Given the description of an element on the screen output the (x, y) to click on. 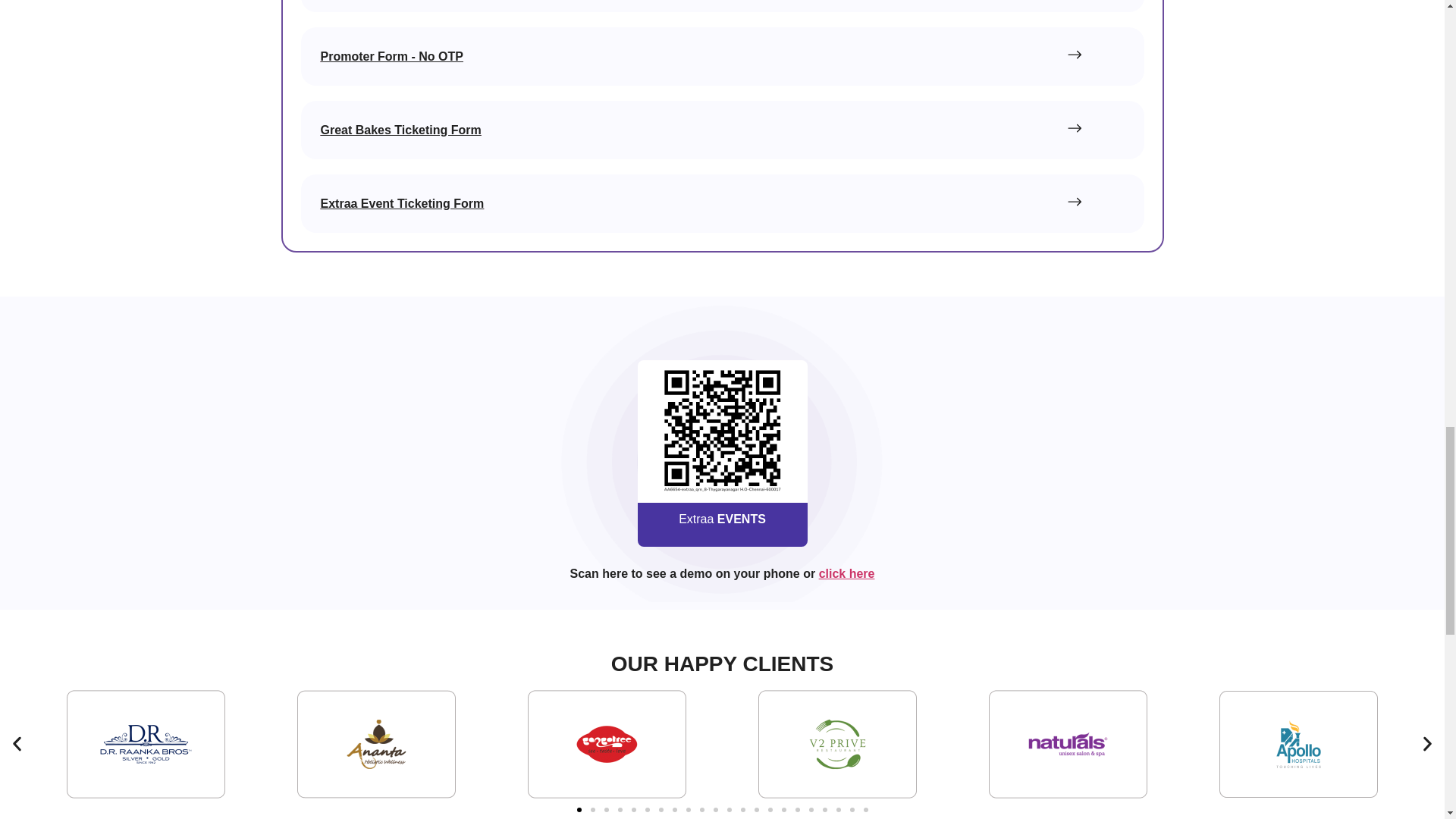
Promoter Form - No OTP (720, 56)
Extraa Event Ticketing Form (720, 203)
Great Bakes Ticketing Form (720, 129)
Promoter Form - OTP (720, 6)
click here (846, 573)
